Given the description of an element on the screen output the (x, y) to click on. 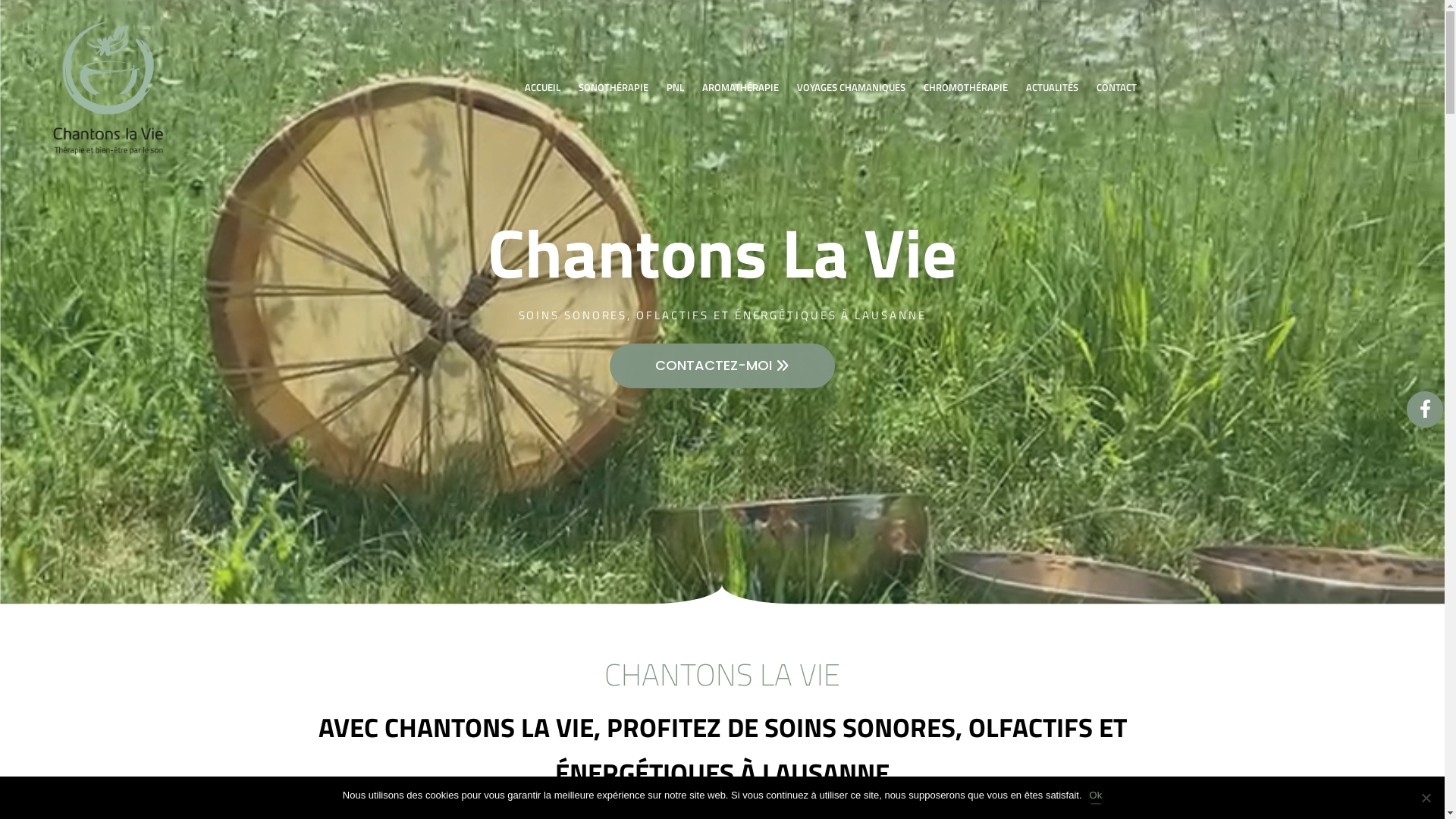
Non Element type: hover (1425, 797)
VOYAGES CHAMANIQUES Element type: text (850, 86)
CONTACT Element type: text (1116, 86)
ACCUEIL Element type: text (542, 86)
Ok Element type: text (1095, 795)
CONTACTEZ-MOI Element type: text (721, 365)
PNL Element type: text (675, 86)
